Given the description of an element on the screen output the (x, y) to click on. 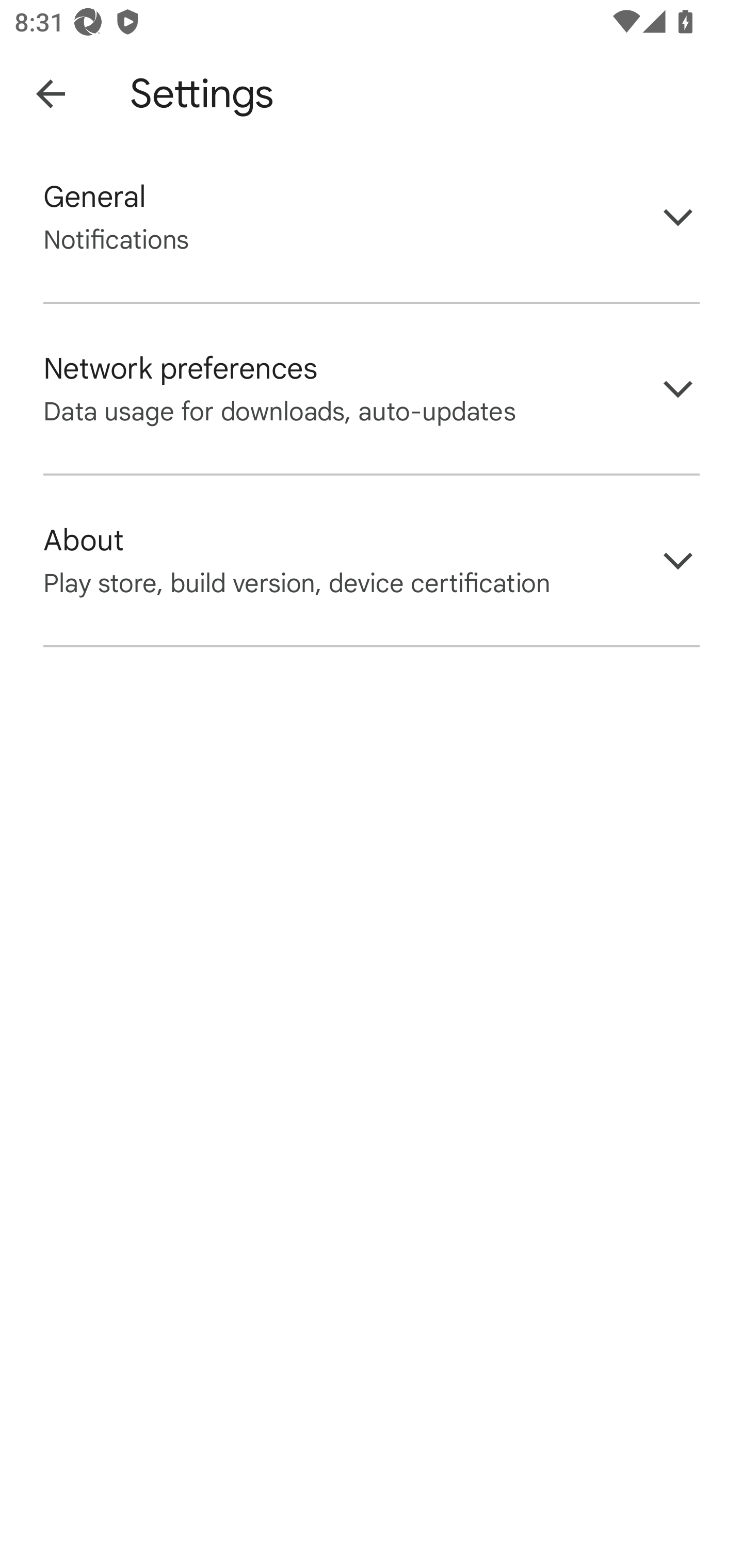
Navigate up (50, 93)
